Given the description of an element on the screen output the (x, y) to click on. 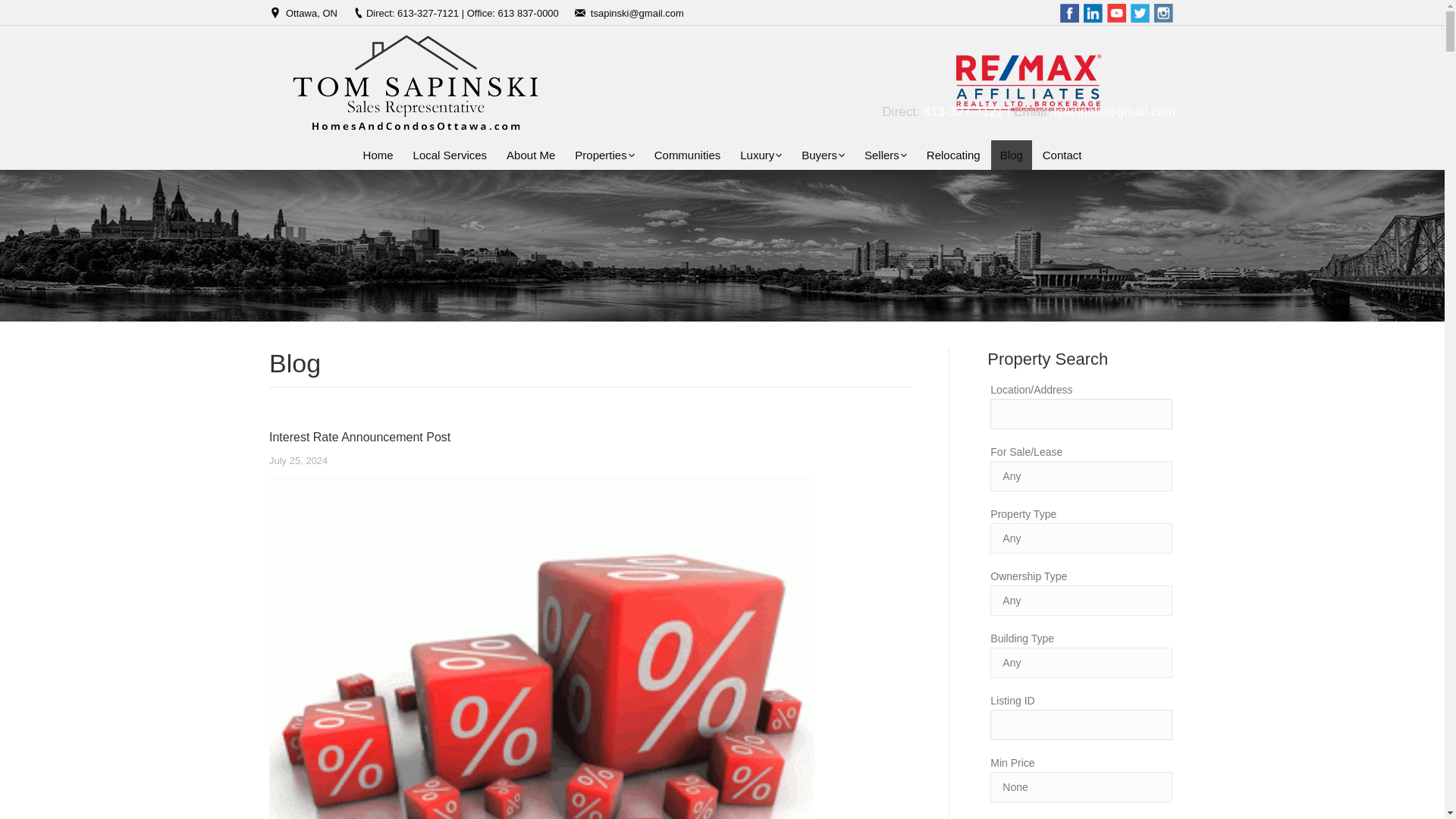
Luxury (760, 154)
Interest Rate Announcement Post (359, 436)
Home (378, 154)
Buyers (822, 154)
Communities (687, 154)
2:18 pm (298, 460)
Relocating (953, 154)
Blog (1011, 154)
Properties (604, 154)
Local Services (450, 154)
Sellers (885, 154)
About Me (530, 154)
